Given the description of an element on the screen output the (x, y) to click on. 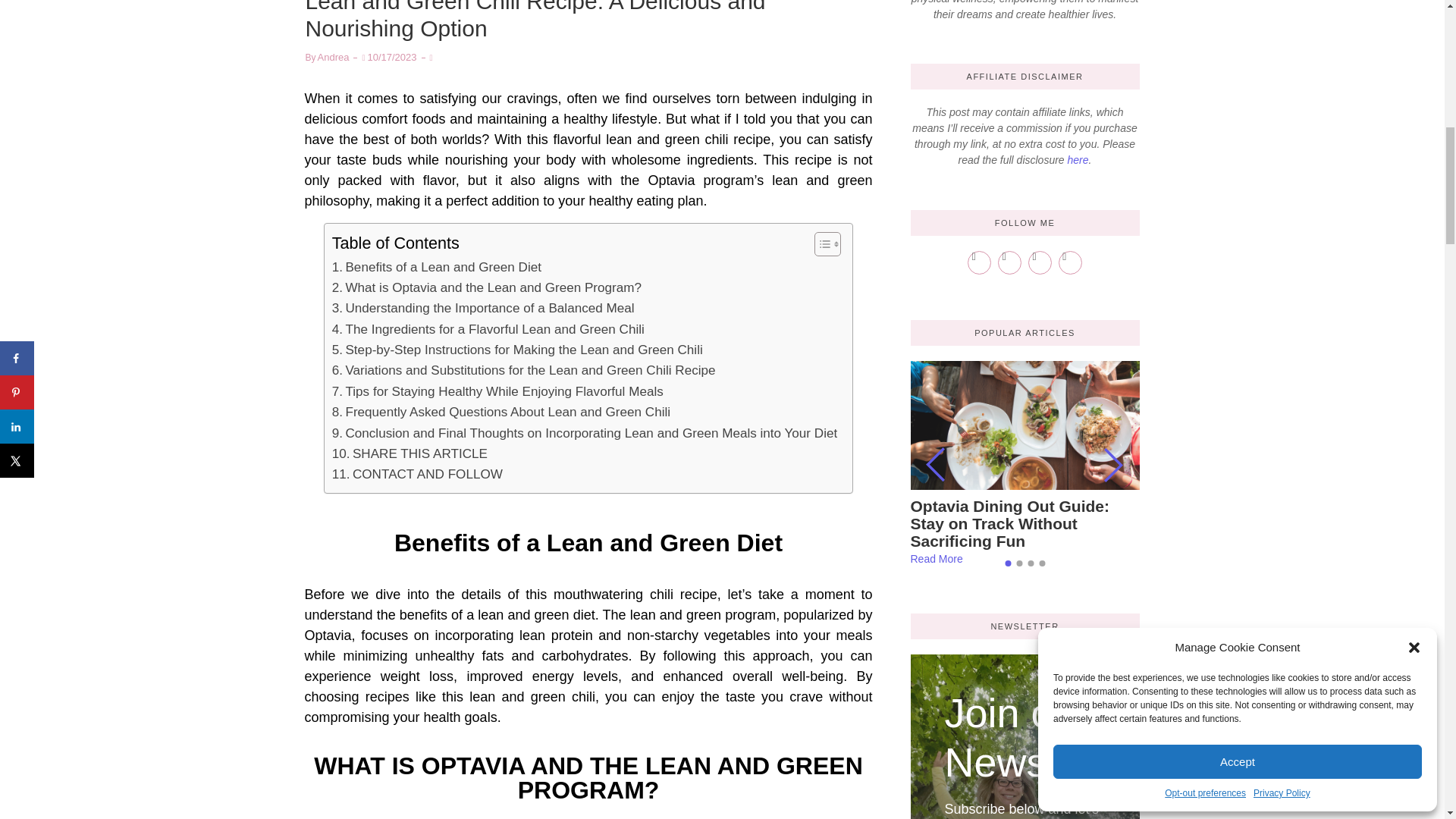
SHARE THIS ARTICLE (409, 453)
Tips for Staying Healthy While Enjoying Flavorful Meals (497, 391)
Benefits of a Lean and Green Diet (436, 267)
The Ingredients for a Flavorful Lean and Green Chili (488, 329)
What is Optavia and the Lean and Green Program? (486, 287)
What is Optavia and the Lean and Green Program? (486, 287)
Frequently Asked Questions About Lean and Green Chili (500, 412)
Understanding the Importance of a Balanced Meal (482, 308)
Understanding the Importance of a Balanced Meal (482, 308)
The Ingredients for a Flavorful Lean and Green Chili (488, 329)
